Given the description of an element on the screen output the (x, y) to click on. 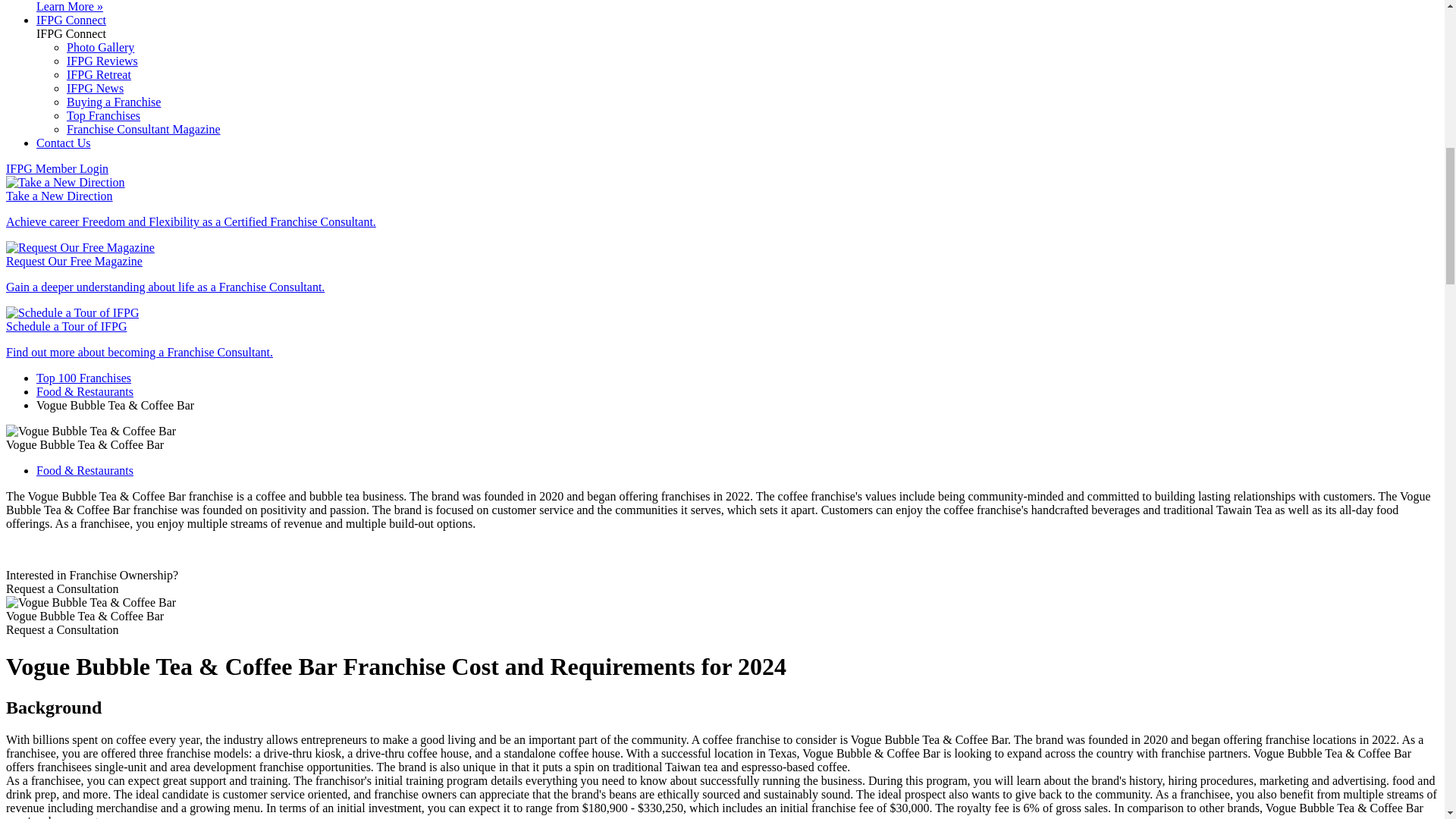
Photo Gallery (99, 47)
Top Franchises (102, 115)
Contact Us (63, 142)
Buying a Franchise (113, 101)
Contact Us (63, 142)
IFPG Reviews (102, 60)
IFPG Member Login (56, 168)
IFPG Connect (71, 19)
IFPG Connect (71, 19)
IFPG Retreat (98, 74)
